Given the description of an element on the screen output the (x, y) to click on. 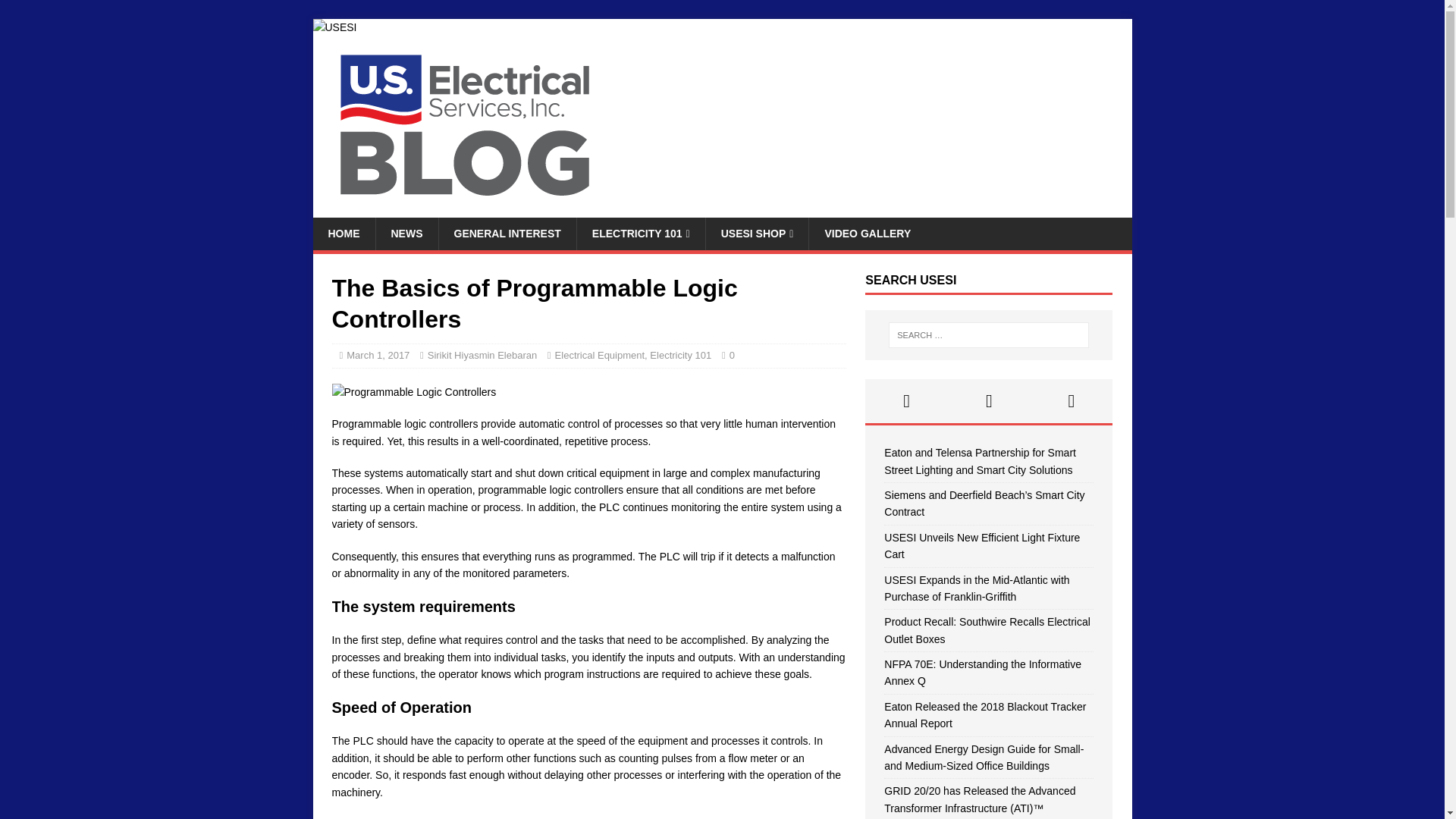
Programmable-Logic-Controller-Basic (413, 392)
ELECTRICITY 101 (640, 233)
GENERAL INTEREST (507, 233)
March 1, 2017 (377, 355)
Electricity 101 (680, 355)
NEWS (406, 233)
USESI SHOP (756, 233)
Sirikit Hiyasmin Elebaran (482, 355)
USESI (334, 27)
Electrical Equipment (599, 355)
VIDEO GALLERY (867, 233)
HOME (343, 233)
Search (56, 11)
